Given the description of an element on the screen output the (x, y) to click on. 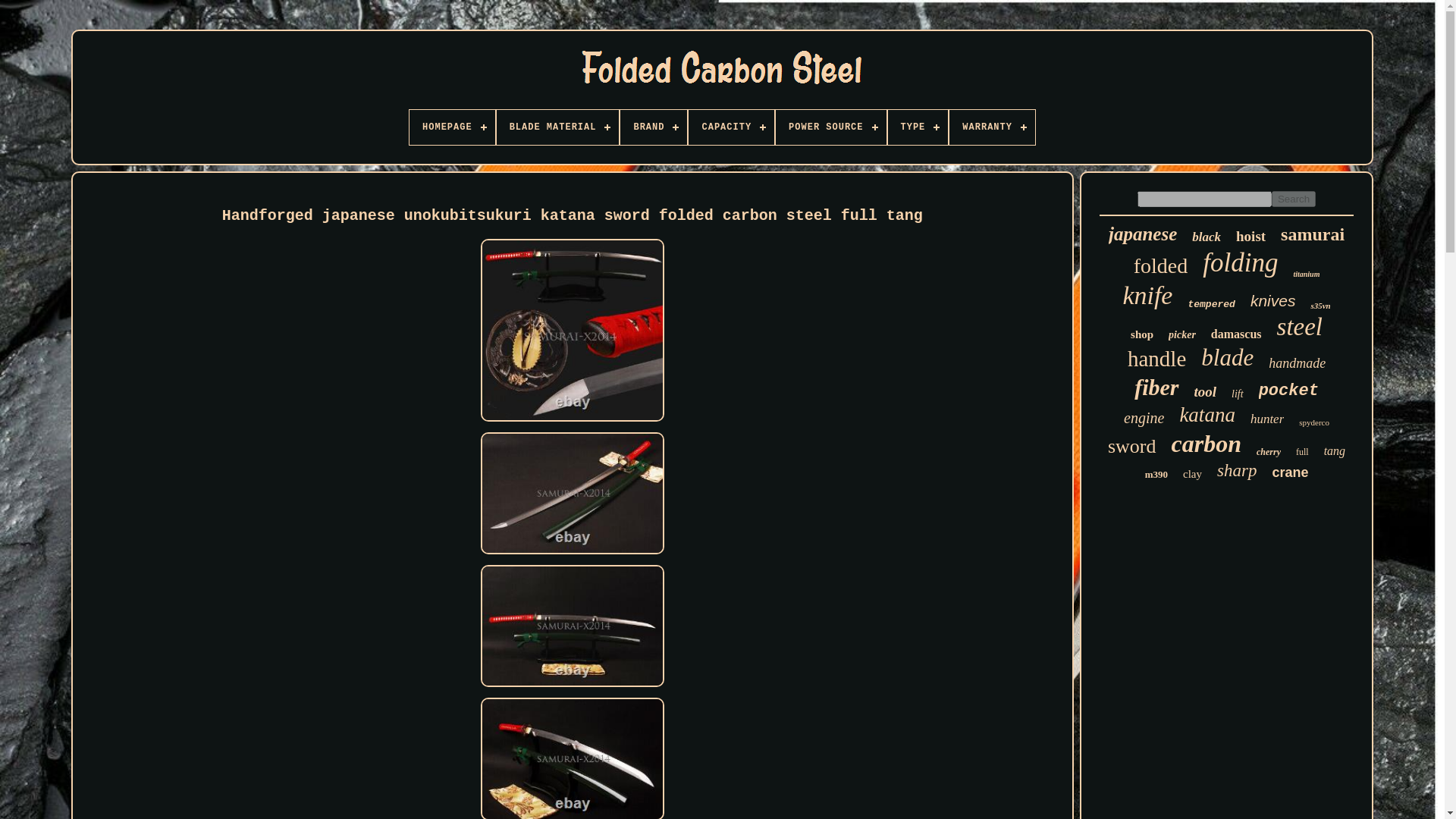
HOMEPAGE (452, 126)
BLADE MATERIAL (558, 126)
BRAND (653, 126)
Search (1293, 198)
